Given the description of an element on the screen output the (x, y) to click on. 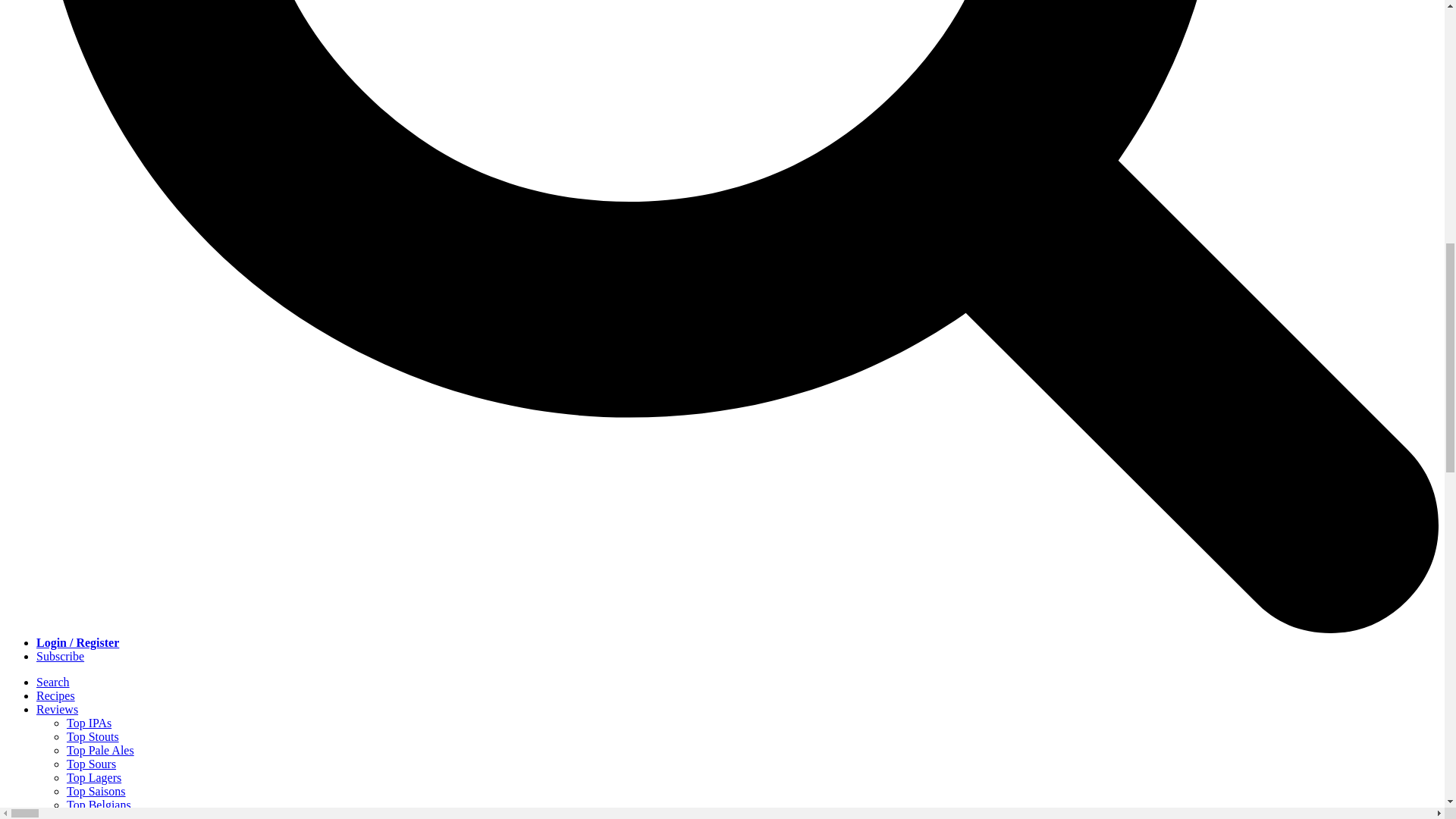
Top Belgians (98, 804)
Subscribe (60, 656)
Reviews (57, 708)
Top IPAs (89, 722)
Top Stouts (92, 736)
Search All Reviews (113, 815)
Top Saisons (95, 790)
Top Sours (91, 763)
Top Lagers (93, 777)
Top Pale Ales (99, 749)
Search (52, 681)
Recipes (55, 695)
